Given the description of an element on the screen output the (x, y) to click on. 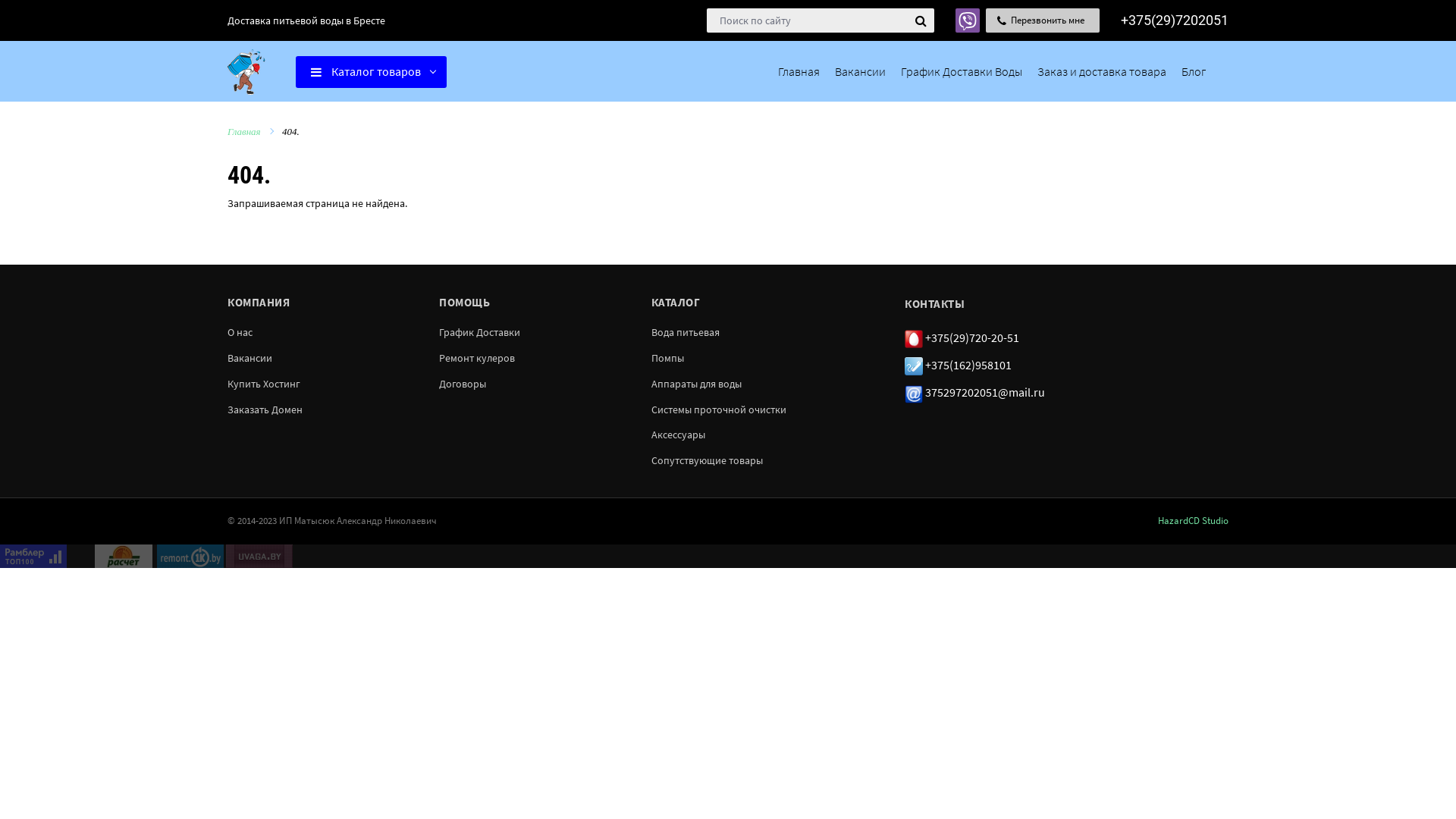
Rambler's Top100 Element type: hover (33, 555)
HazardCD Studio Element type: text (1192, 520)
+375(29)720-20-51 Element type: text (961, 337)
+375(162)958101 Element type: text (957, 364)
LiveInternet Element type: hover (80, 555)
375297202051@mail.ru Element type: text (974, 391)
+375(29)7202051 Element type: text (1174, 20)
